Given the description of an element on the screen output the (x, y) to click on. 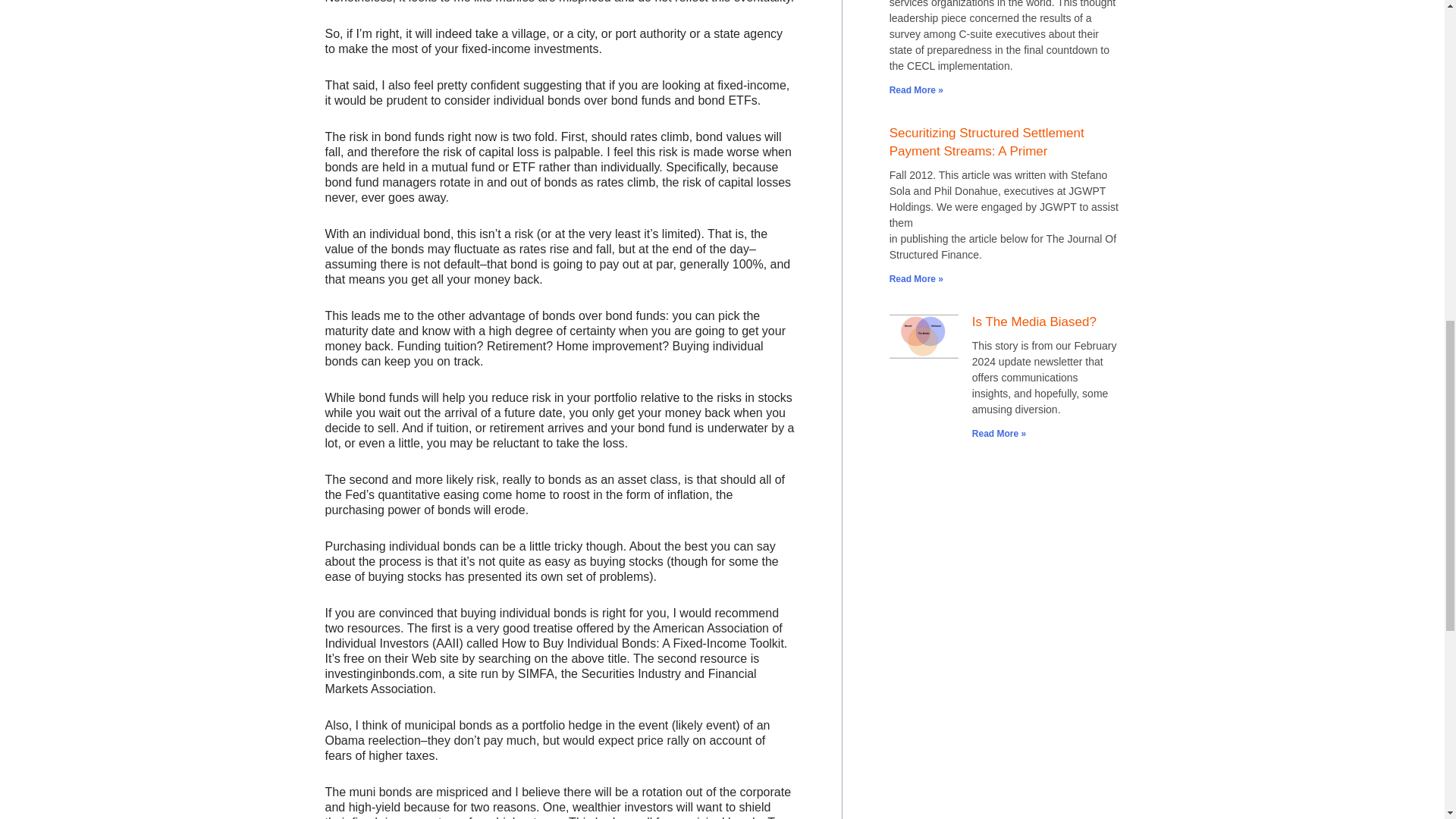
Securitizing Structured Settlement Payment Streams: A Primer (986, 142)
Is The Media Biased? (1034, 321)
